Given the description of an element on the screen output the (x, y) to click on. 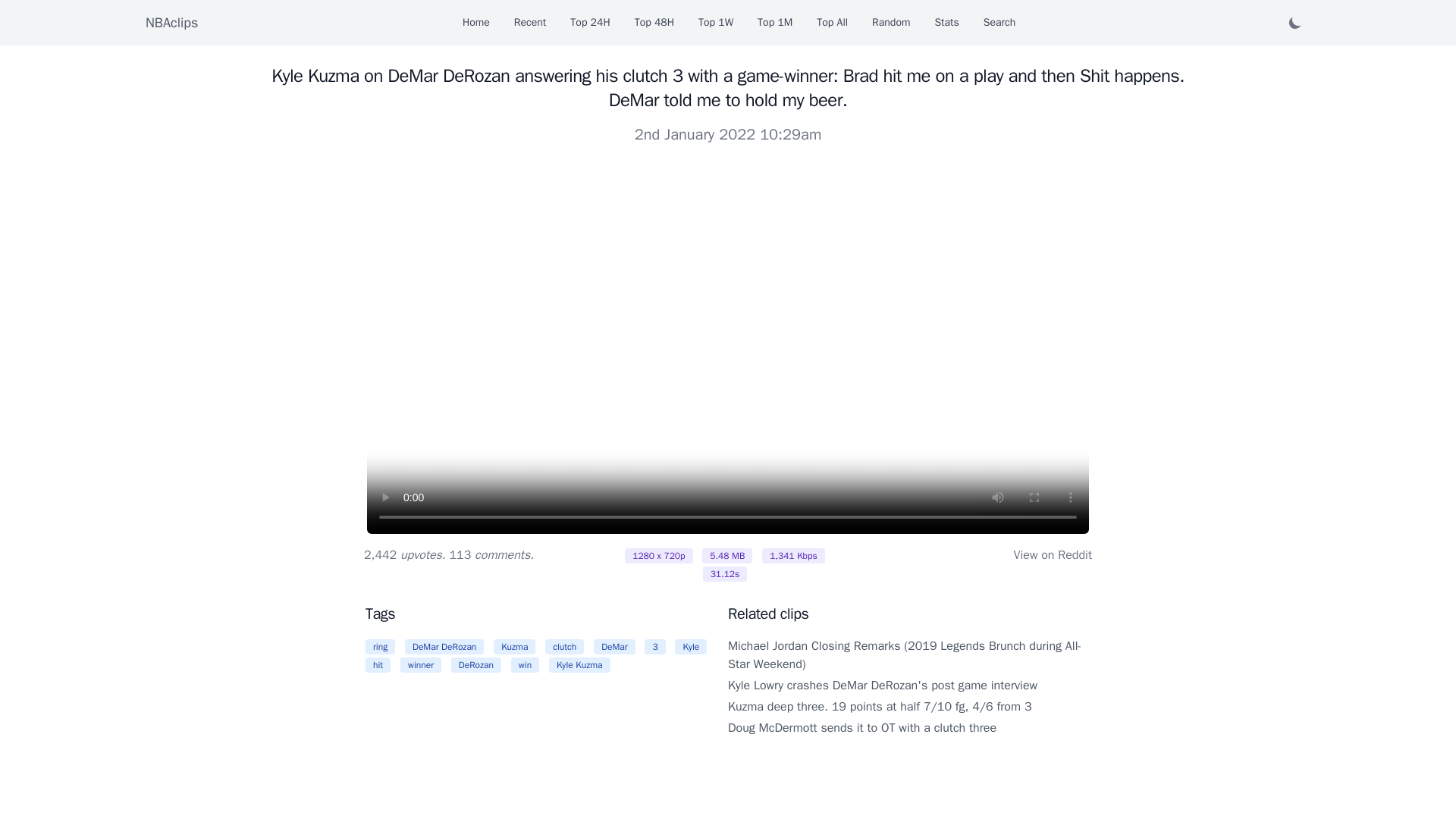
Top 24H (590, 22)
Stats (946, 22)
Doug McDermott sends it to OT with a clutch three (861, 727)
Kyle Kuzma (579, 664)
clutch (564, 646)
Kyle (690, 646)
Top All (831, 22)
Home (476, 22)
Random (891, 22)
Top 1M (774, 22)
